Given the description of an element on the screen output the (x, y) to click on. 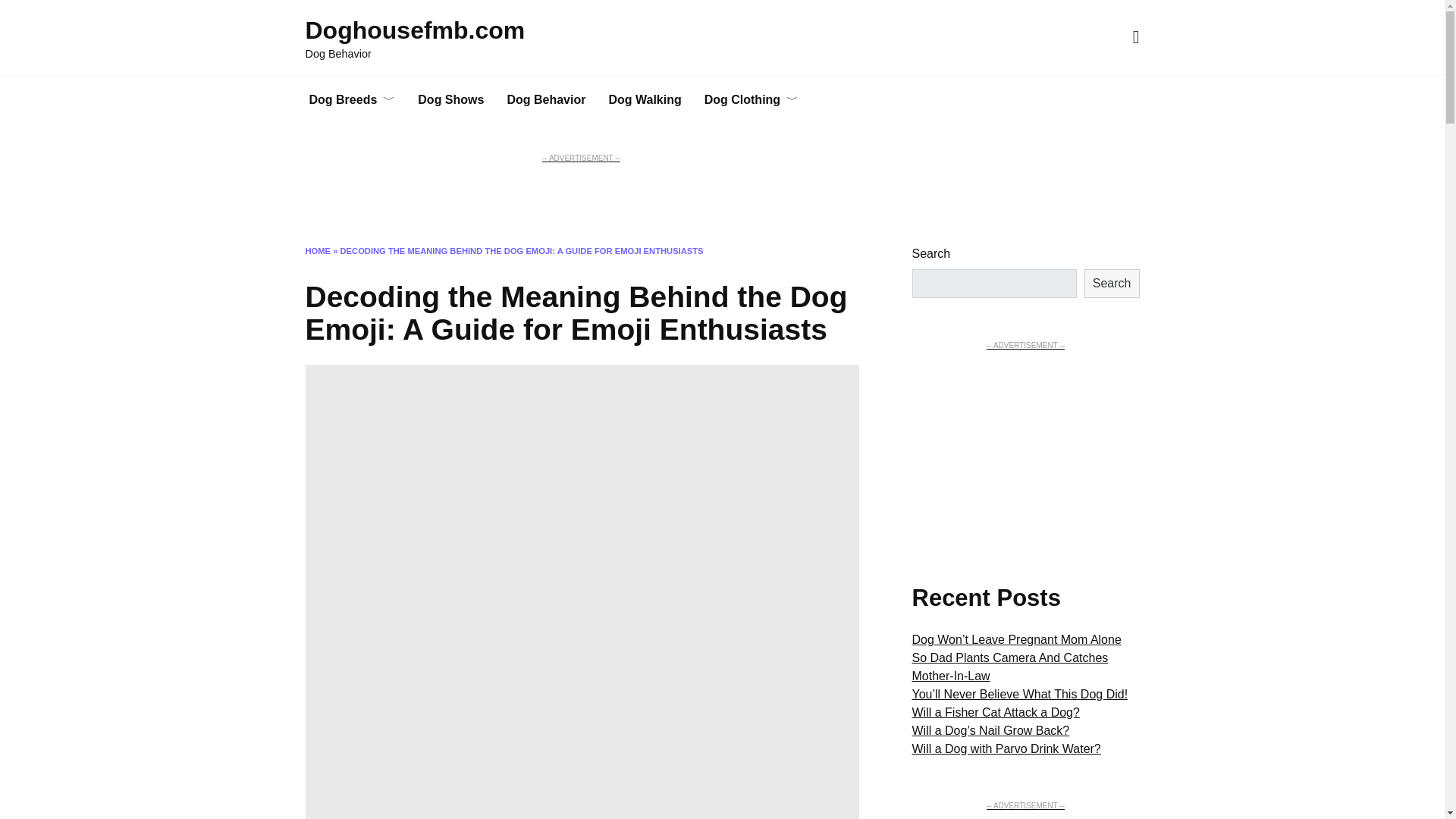
Dog Walking (644, 100)
Advertisement (1024, 447)
HOME (317, 250)
Advertisement (580, 199)
Dog Behavior (545, 100)
Dog Shows (450, 100)
Dog Clothing (751, 100)
Dog Breeds (351, 100)
Advertisement (1024, 816)
Doghousefmb.com (414, 30)
